Given the description of an element on the screen output the (x, y) to click on. 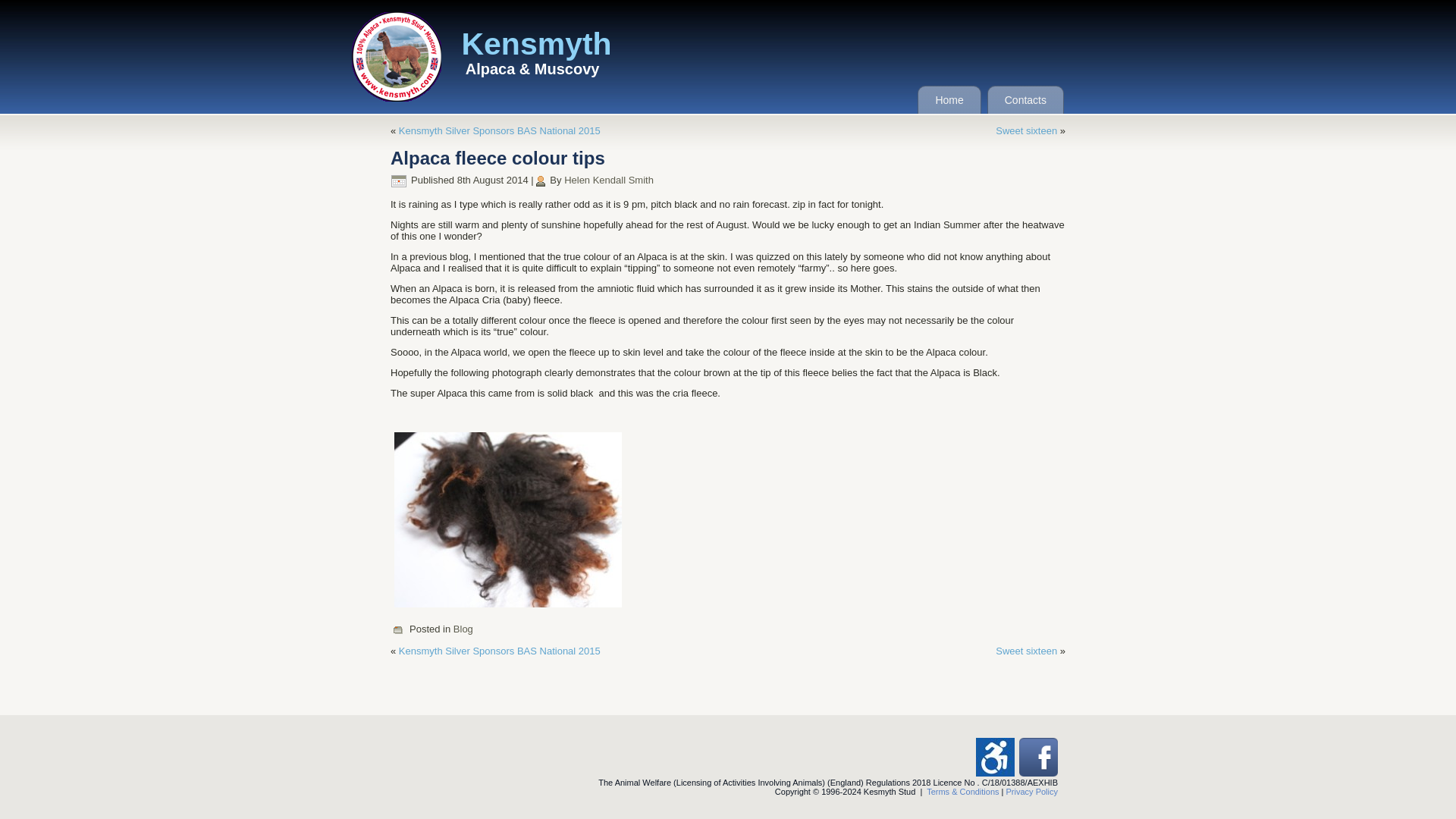
Sweet sixteen (1026, 130)
View all posts by Helen Kendall Smith (608, 179)
Sweet sixteen (1026, 650)
Sweet sixteen (1026, 130)
Blog (462, 628)
Kensmyth (536, 43)
Sweet sixteen (1026, 650)
Helen Kendall Smith (608, 179)
Home (948, 99)
Contacts (1025, 99)
Privacy Policy (1032, 791)
Home (948, 99)
Contacts (1025, 99)
Kensmyth Silver Sponsors BAS National 2015 (498, 650)
Kensmyth Silver Sponsors BAS National 2015 (498, 130)
